Given the description of an element on the screen output the (x, y) to click on. 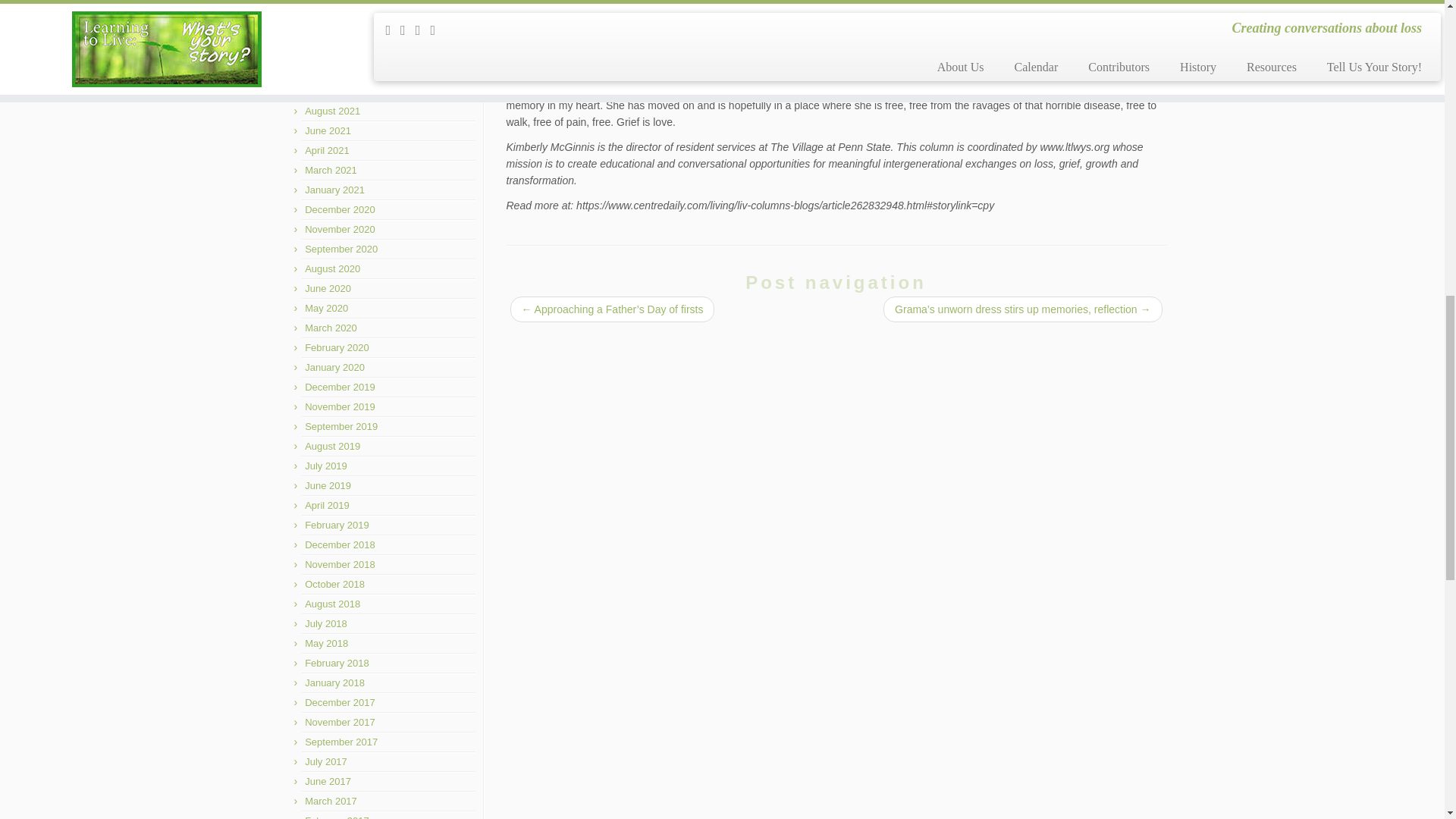
December 2021 (339, 51)
February 2022 (336, 12)
January 2022 (334, 31)
October 2021 (334, 71)
